Given the description of an element on the screen output the (x, y) to click on. 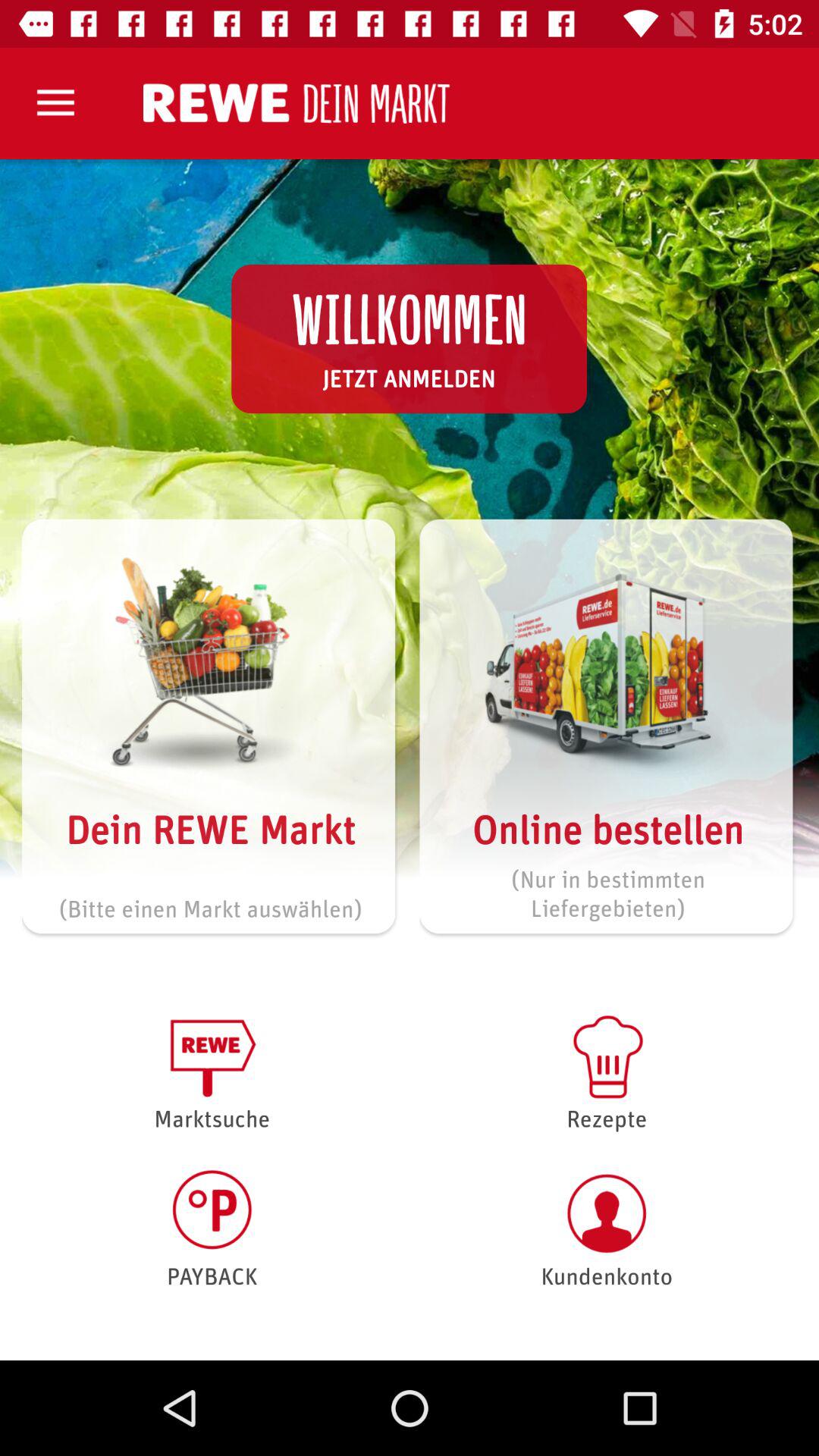
turn on the item above the payback icon (211, 1070)
